Given the description of an element on the screen output the (x, y) to click on. 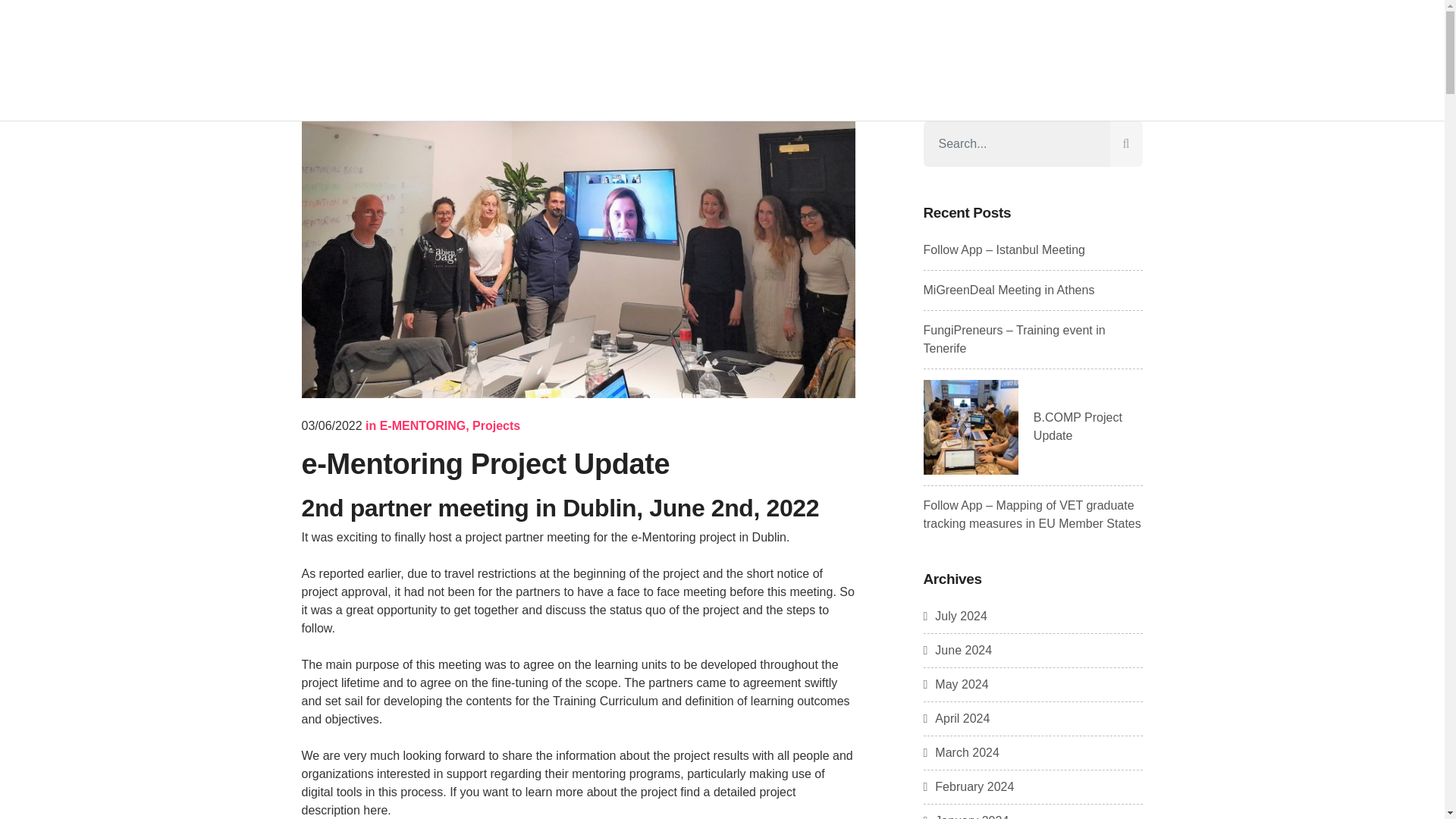
June 2024 (957, 649)
July 2024 (955, 615)
February 2024 (968, 786)
MiGreenDeal Meeting in Athens (1008, 289)
January 2024 (966, 816)
B.COMP Project Update (1077, 426)
April 2024 (956, 717)
here (374, 809)
March 2024 (960, 752)
E-MENTORING (422, 425)
May 2024 (955, 684)
Projects (495, 425)
